Given the description of an element on the screen output the (x, y) to click on. 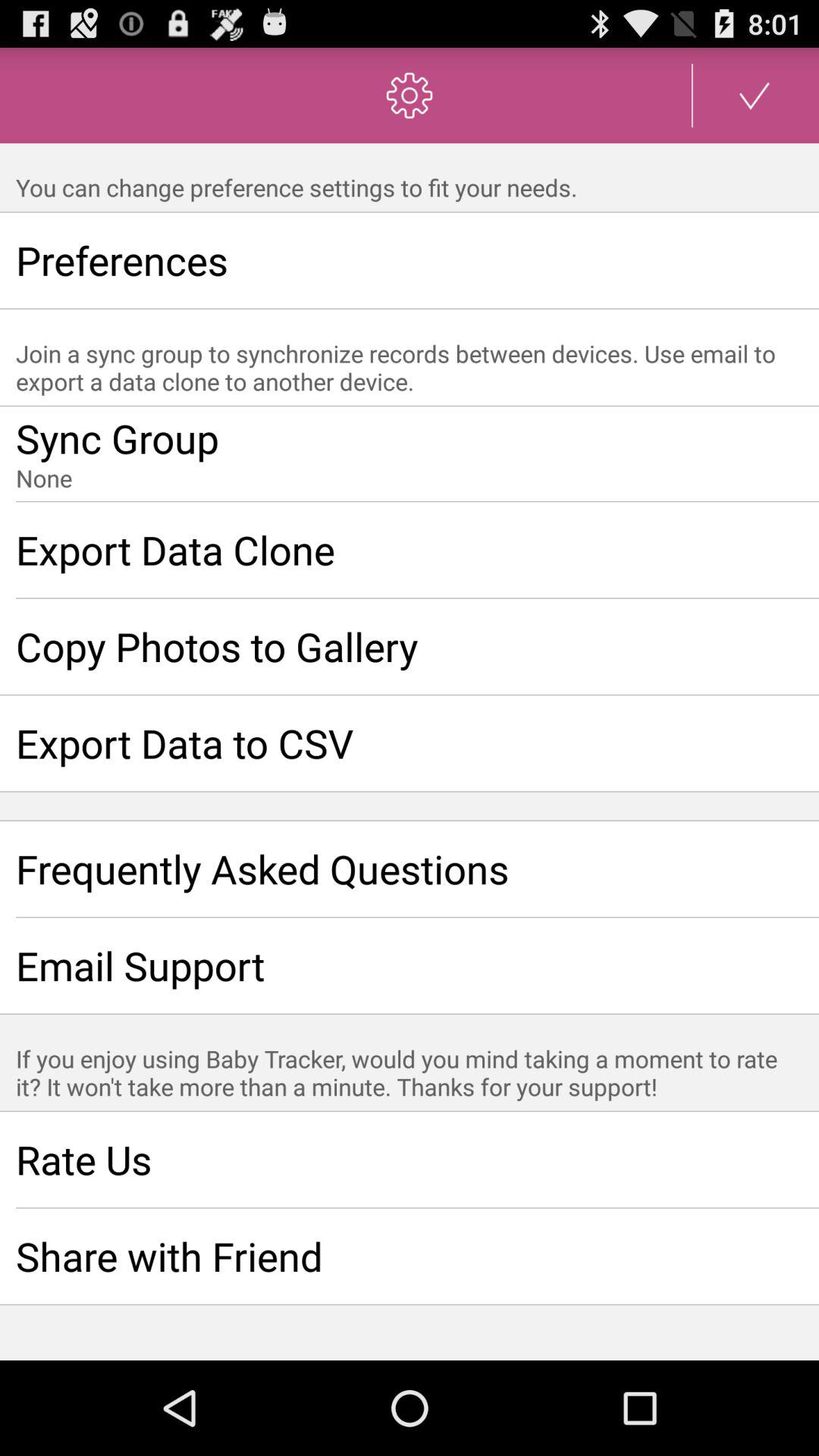
launch the share with friend button (409, 1256)
